Given the description of an element on the screen output the (x, y) to click on. 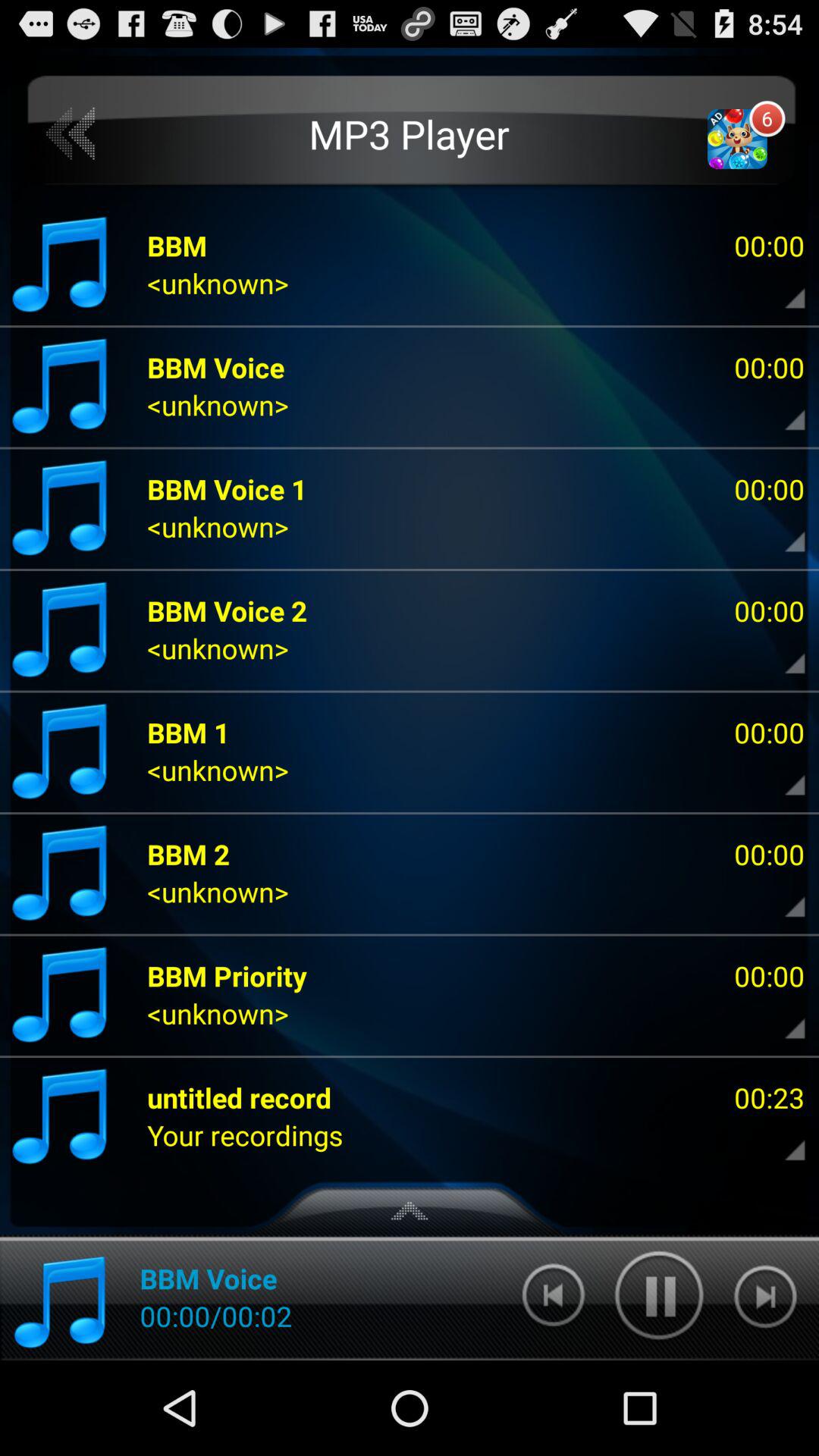
press icon next to the 00:23 (244, 1134)
